Given the description of an element on the screen output the (x, y) to click on. 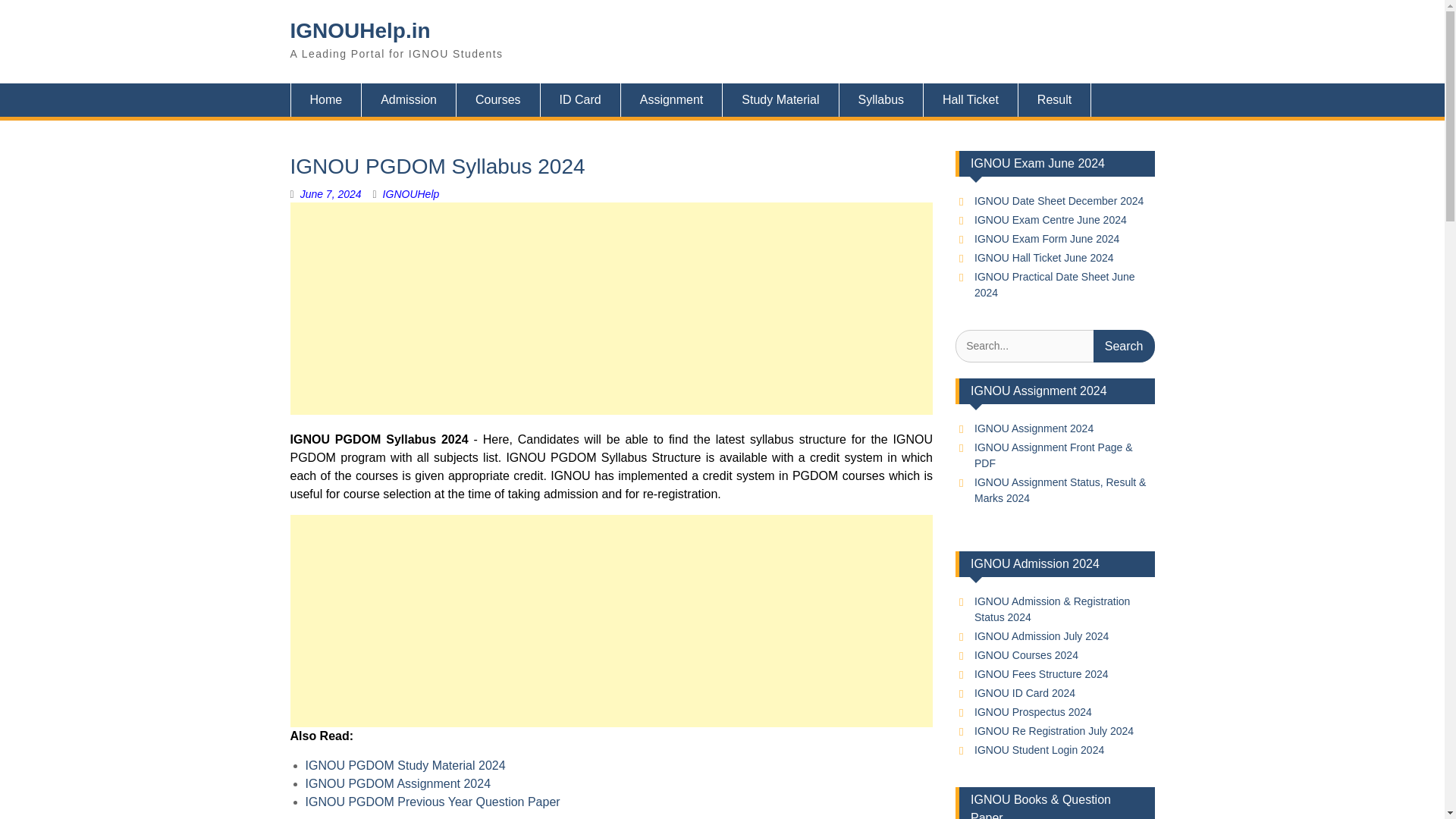
Search (1123, 346)
Search (1123, 346)
IGNOU PGDOM Assignment 2024 (397, 783)
IGNOU PGDOM Previous Year Question Paper (431, 801)
ID Card (580, 100)
Search for: (1054, 346)
Syllabus (881, 100)
IGNOU Admission July 2024 (1041, 635)
IGNOUHelp.in (359, 30)
IGNOU Practical Date Sheet June 2024 (1054, 284)
